Given the description of an element on the screen output the (x, y) to click on. 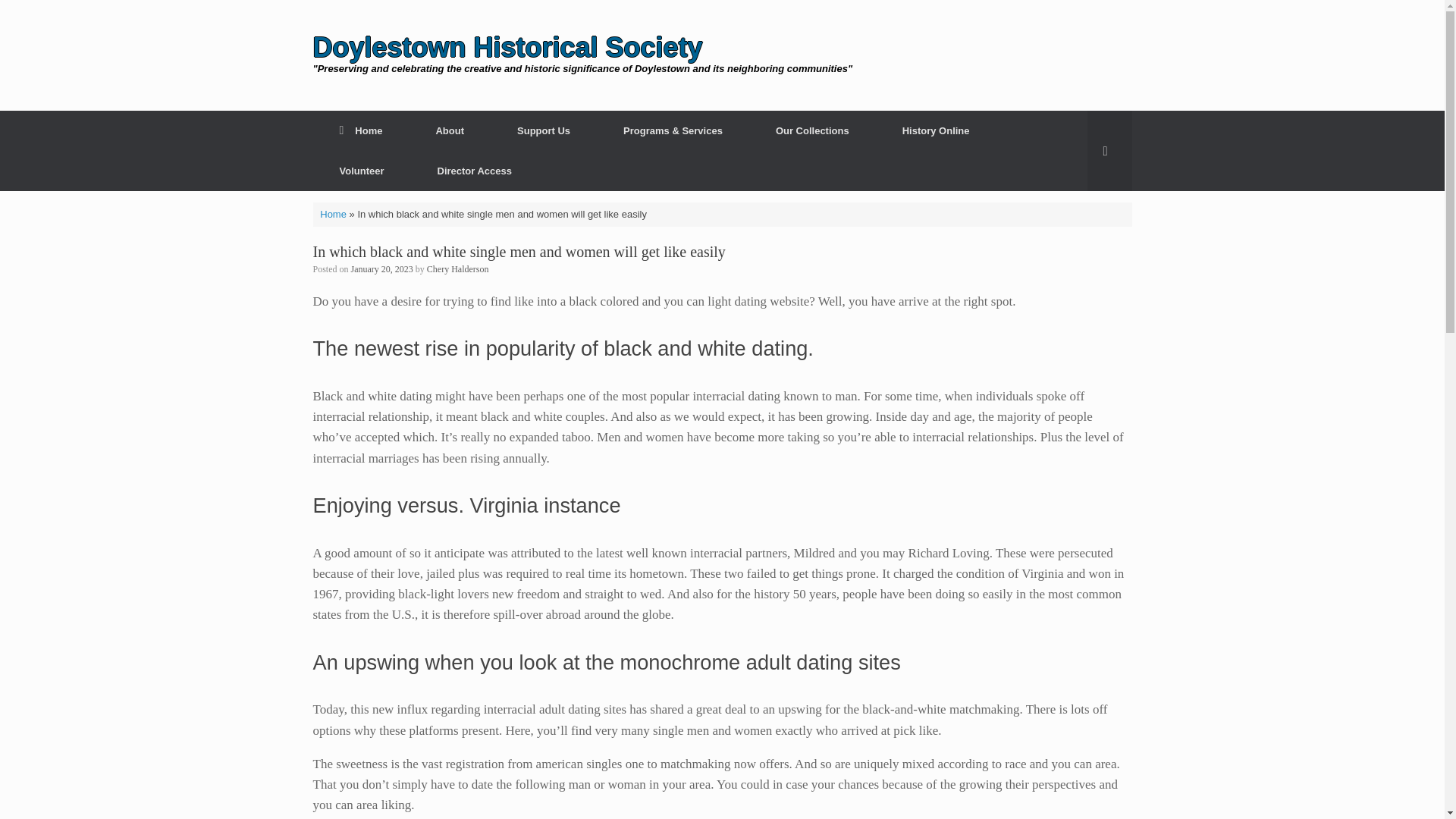
Support Us (543, 130)
Home (333, 214)
Home (361, 130)
About (449, 130)
Director Access (474, 169)
4:58 am (381, 268)
January 20, 2023 (381, 268)
History Online (935, 130)
Volunteer (361, 169)
Our Collections (812, 130)
View all posts by Chery Halderson (457, 268)
